Given the description of an element on the screen output the (x, y) to click on. 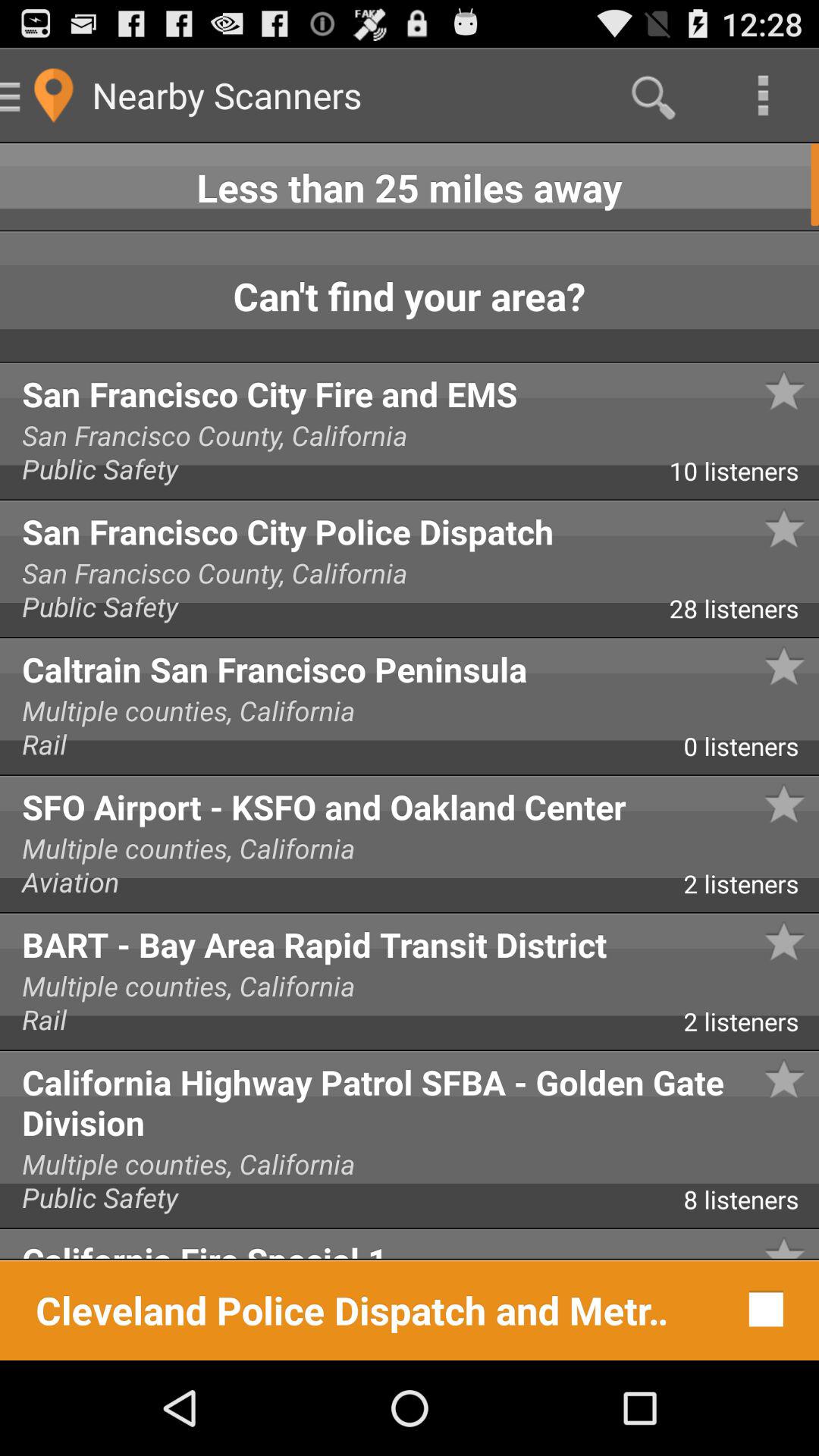
flip until less than 25 item (409, 187)
